Given the description of an element on the screen output the (x, y) to click on. 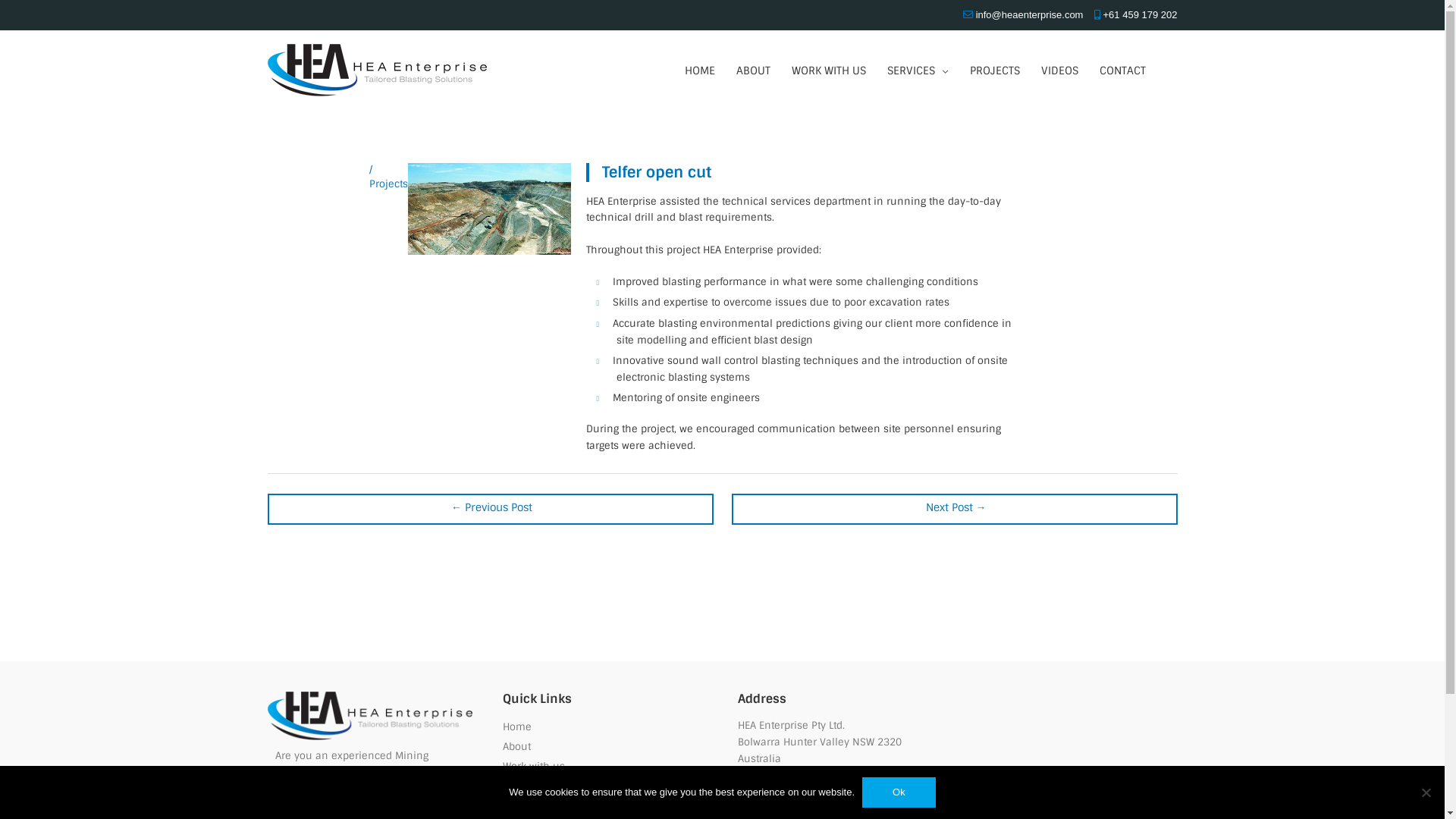
No Element type: hover (1425, 792)
WORK WITH US Element type: text (828, 69)
SERVICES Element type: text (917, 69)
CONTACT Element type: text (1122, 69)
Work with us Element type: text (533, 766)
PROJECTS Element type: text (993, 69)
About Element type: text (516, 746)
Services Element type: text (522, 786)
Projects Element type: text (388, 183)
+61 459 179 202 Element type: text (1140, 14)
Projects Element type: text (521, 805)
Ok Element type: text (898, 792)
VIDEOS Element type: text (1058, 69)
Home Element type: text (516, 727)
+61 459 179 202 Element type: text (815, 793)
HOME Element type: text (698, 69)
info@heaenterprise.com Element type: text (1029, 14)
ABOUT Element type: text (752, 69)
